Given the description of an element on the screen output the (x, y) to click on. 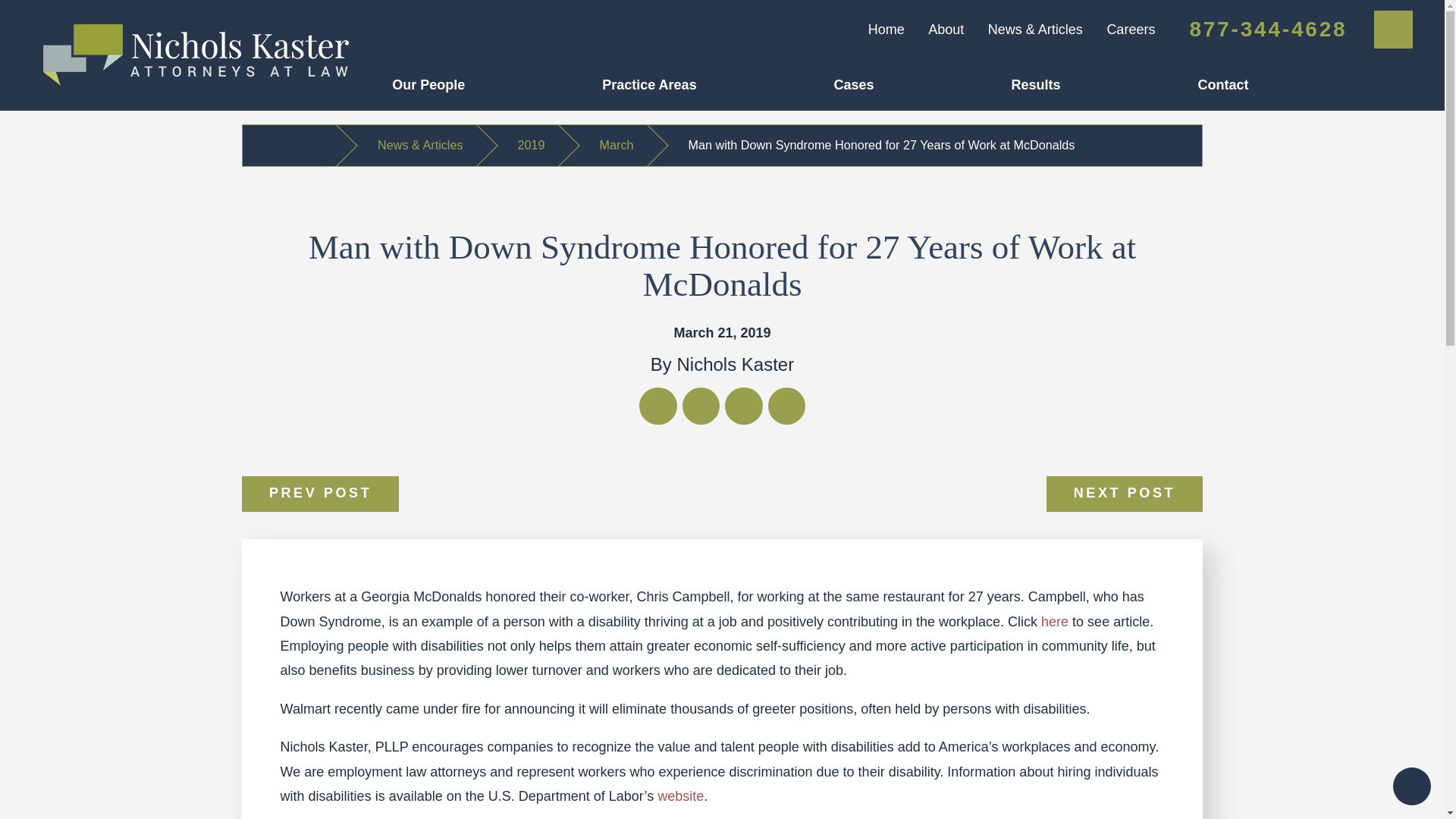
Results (1104, 84)
Practice Areas (717, 84)
Search Icon (1393, 29)
Contact (1291, 84)
About (945, 29)
Go Home (296, 145)
Our People (496, 84)
Careers (1130, 29)
Home (885, 29)
877-344-4628 (1267, 29)
